Given the description of an element on the screen output the (x, y) to click on. 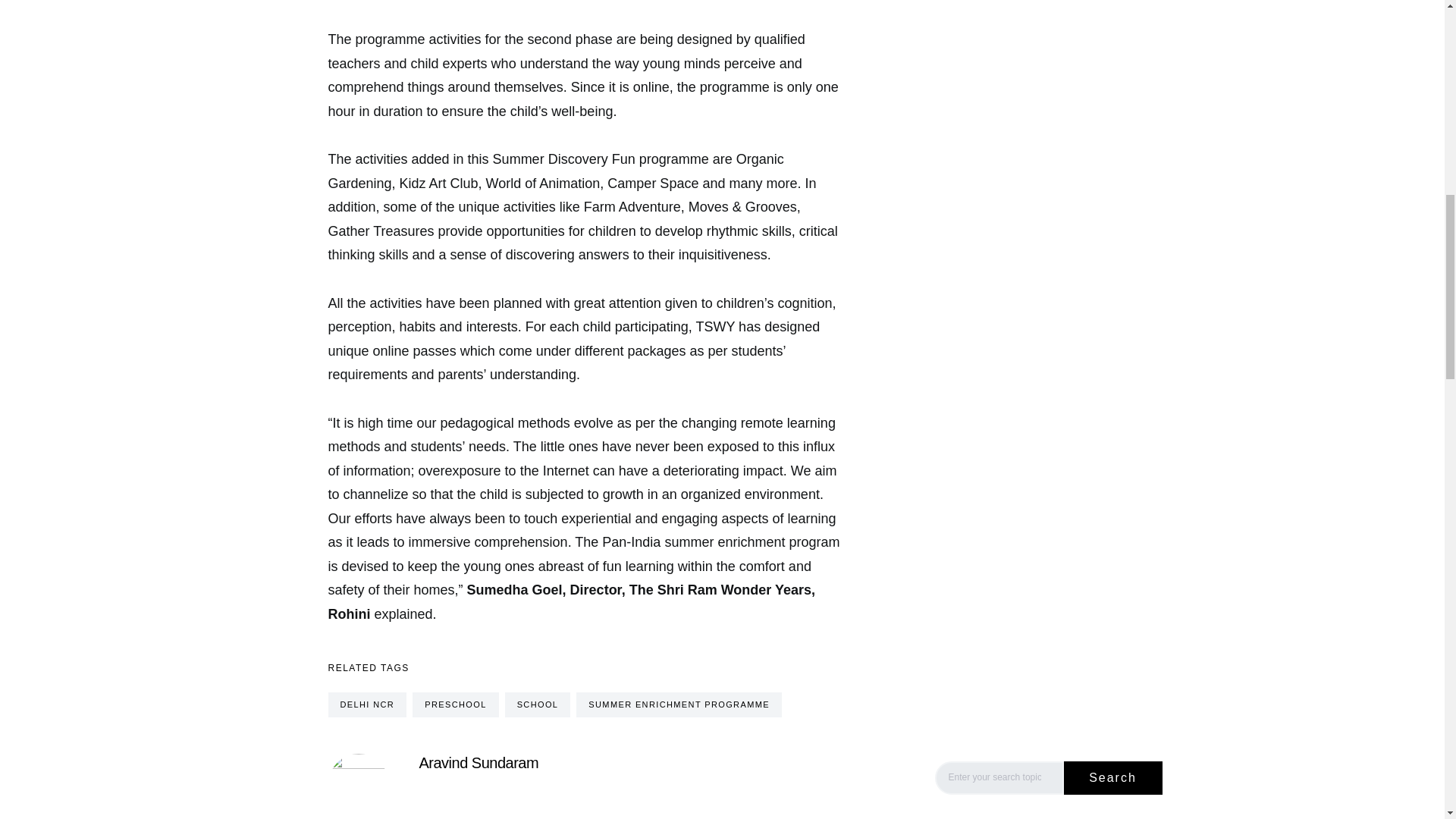
Aravind Sundaram (478, 761)
SCHOOL (537, 704)
DELHI NCR (366, 704)
SUMMER ENRICHMENT PROGRAMME (678, 704)
PRESCHOOL (454, 704)
